Given the description of an element on the screen output the (x, y) to click on. 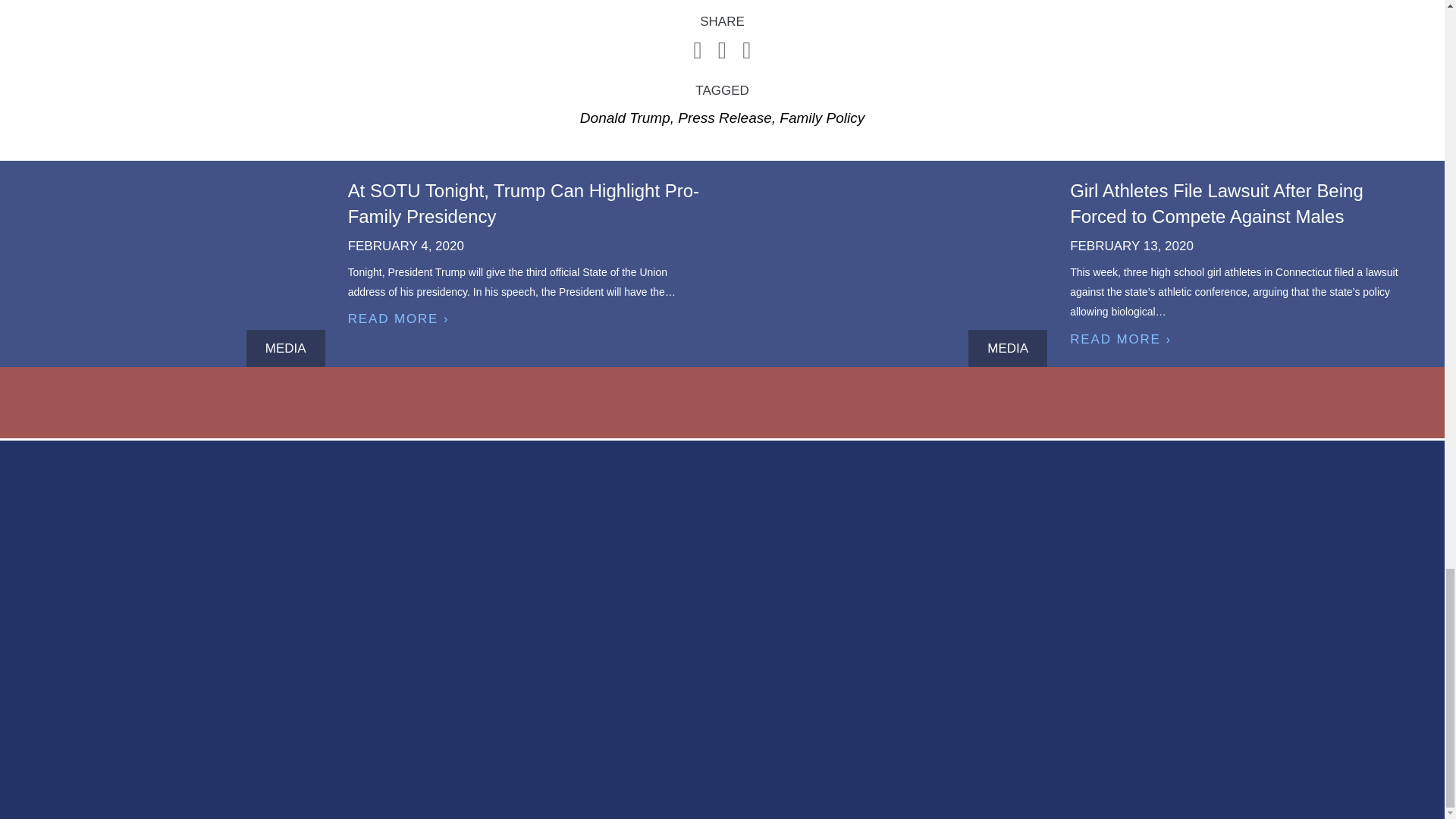
Donald Trump (624, 117)
Press Release (724, 117)
Family Policy (821, 117)
